Given the description of an element on the screen output the (x, y) to click on. 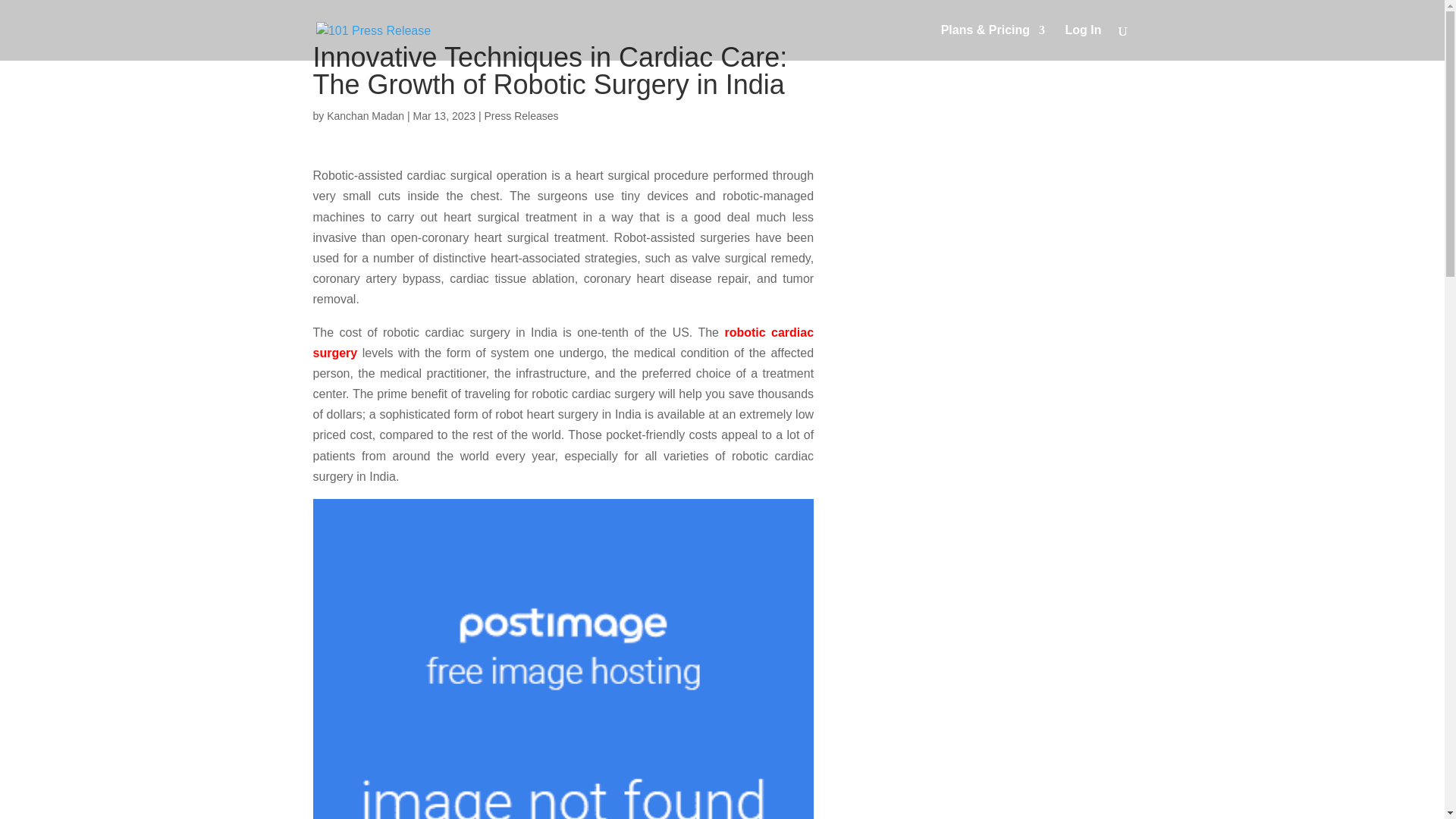
robotic cardiac surgery (563, 342)
Kanchan Madan (365, 115)
Posts by Kanchan Madan (365, 115)
Press Releases (520, 115)
Log In (1083, 42)
